Given the description of an element on the screen output the (x, y) to click on. 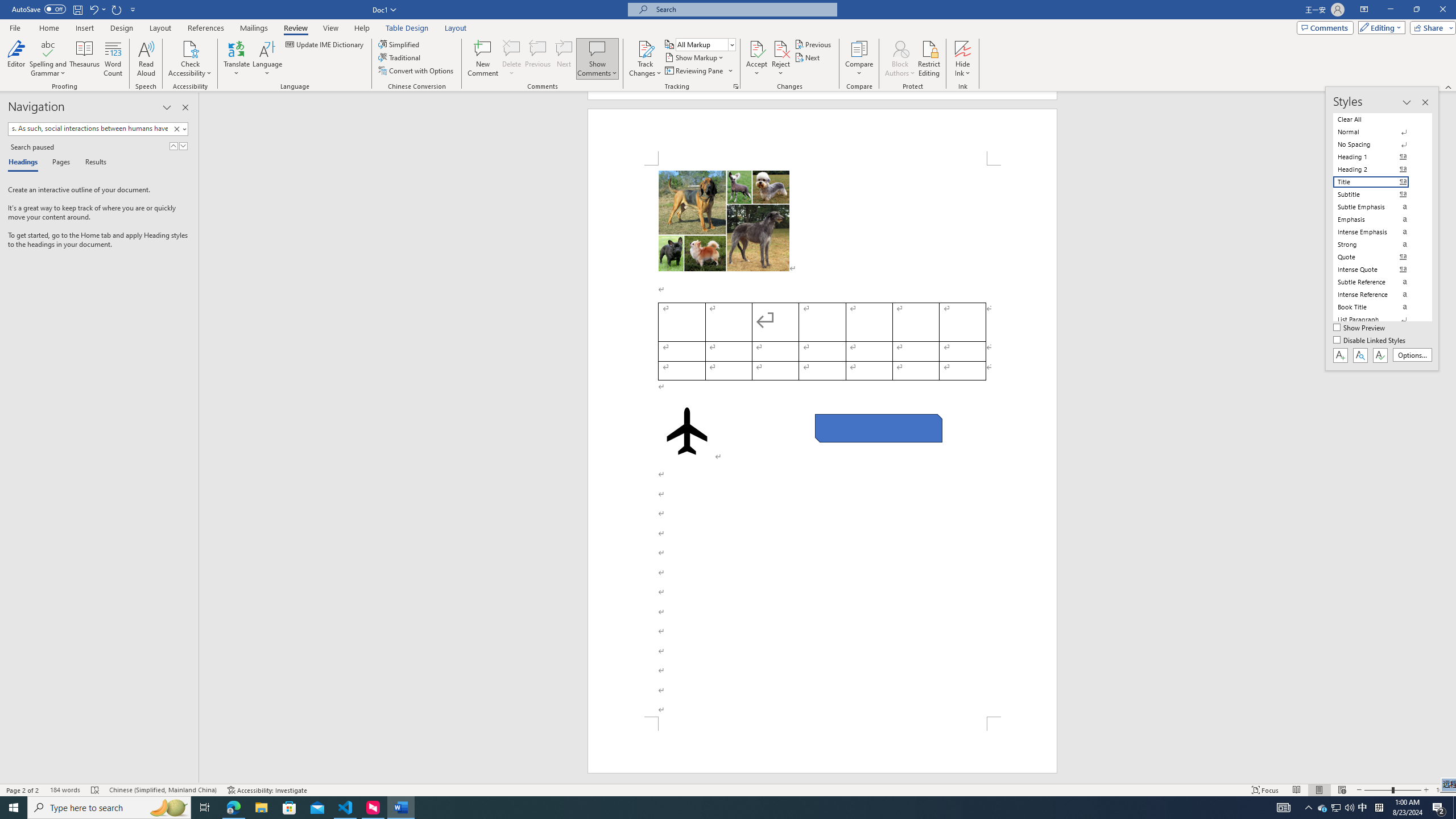
Display for Review (705, 44)
Spelling and Grammar (48, 58)
Show Preview (1360, 328)
Undo Style (96, 9)
Quote (1377, 256)
Rectangle: Diagonal Corners Snipped 2 (878, 428)
Show Comments (597, 58)
Book Title (1377, 306)
Show Comments (597, 48)
